Given the description of an element on the screen output the (x, y) to click on. 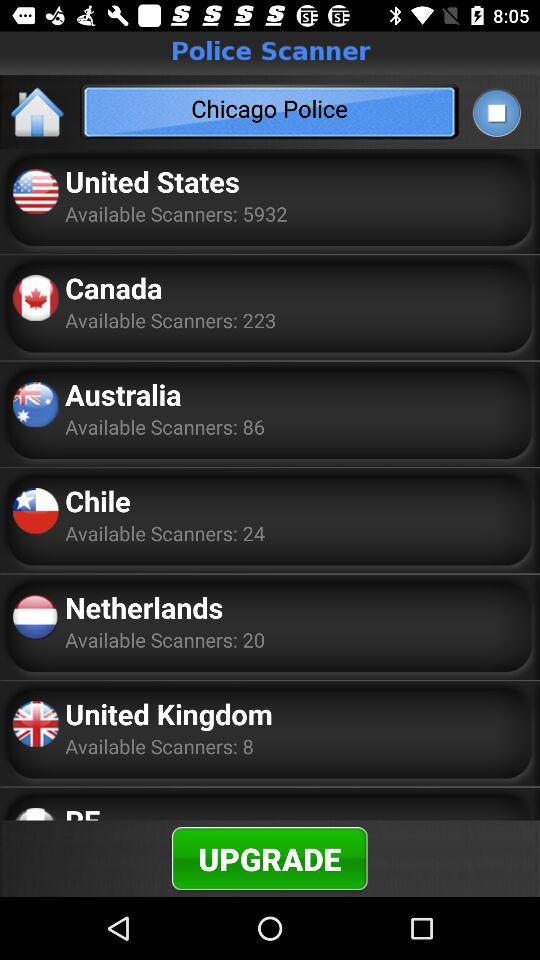
launch the icon at the top right corner (496, 111)
